Given the description of an element on the screen output the (x, y) to click on. 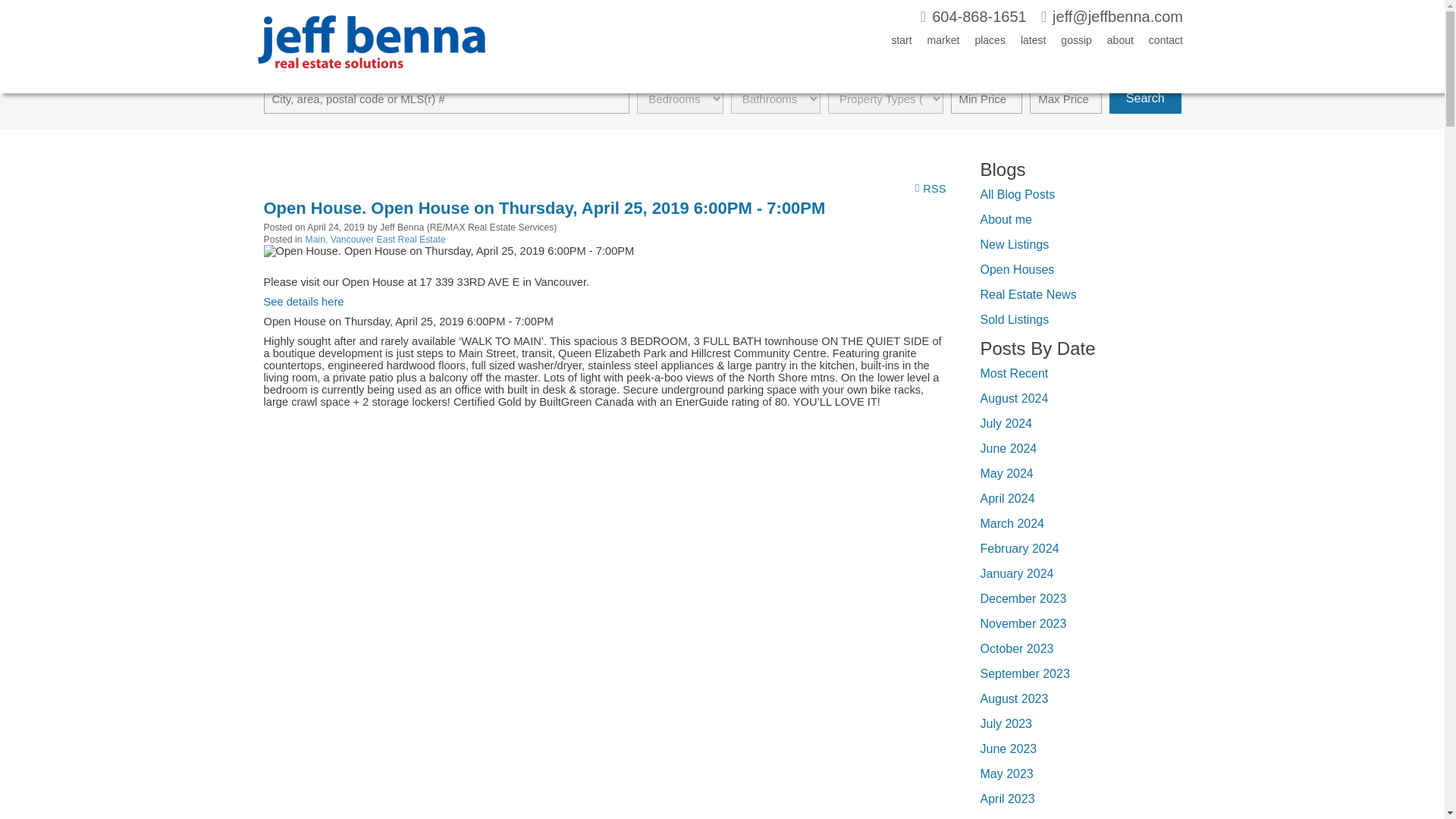
Jeff Benna (370, 79)
Main, Vancouver East Real Estate (375, 239)
June 2023 (1007, 748)
contact (1158, 43)
New Listings (1013, 244)
July 2023 (1005, 723)
Real Estate News (1027, 294)
All Blog Posts (1016, 194)
Most Recent (1013, 373)
Search (1144, 98)
